Given the description of an element on the screen output the (x, y) to click on. 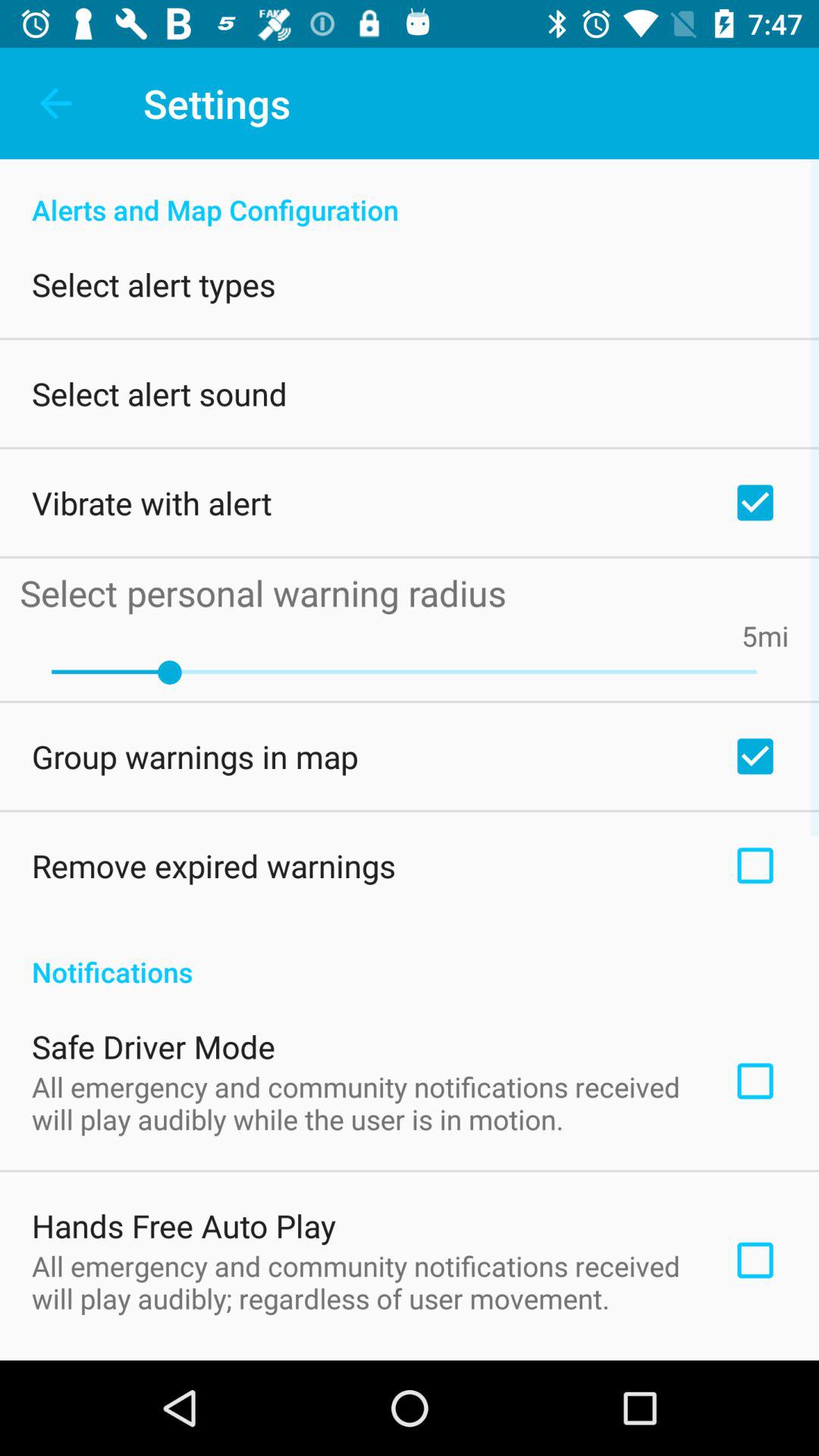
launch item above alerts and map item (55, 103)
